Given the description of an element on the screen output the (x, y) to click on. 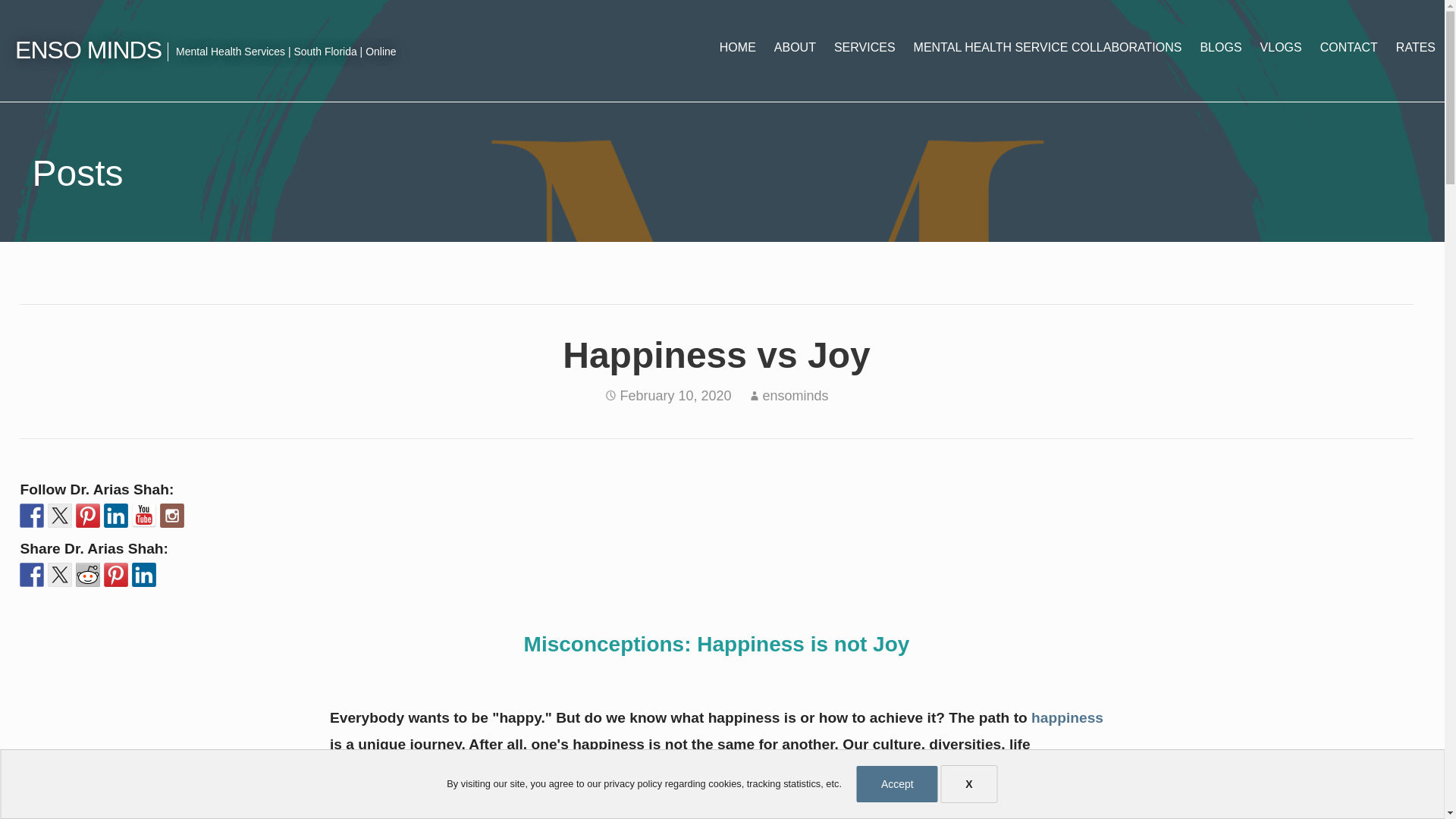
Accept (897, 783)
Posts by ensominds (795, 395)
X (968, 783)
MENTAL HEALTH SERVICE COLLABORATIONS (1047, 47)
ENSO MINDS (87, 49)
